Given the description of an element on the screen output the (x, y) to click on. 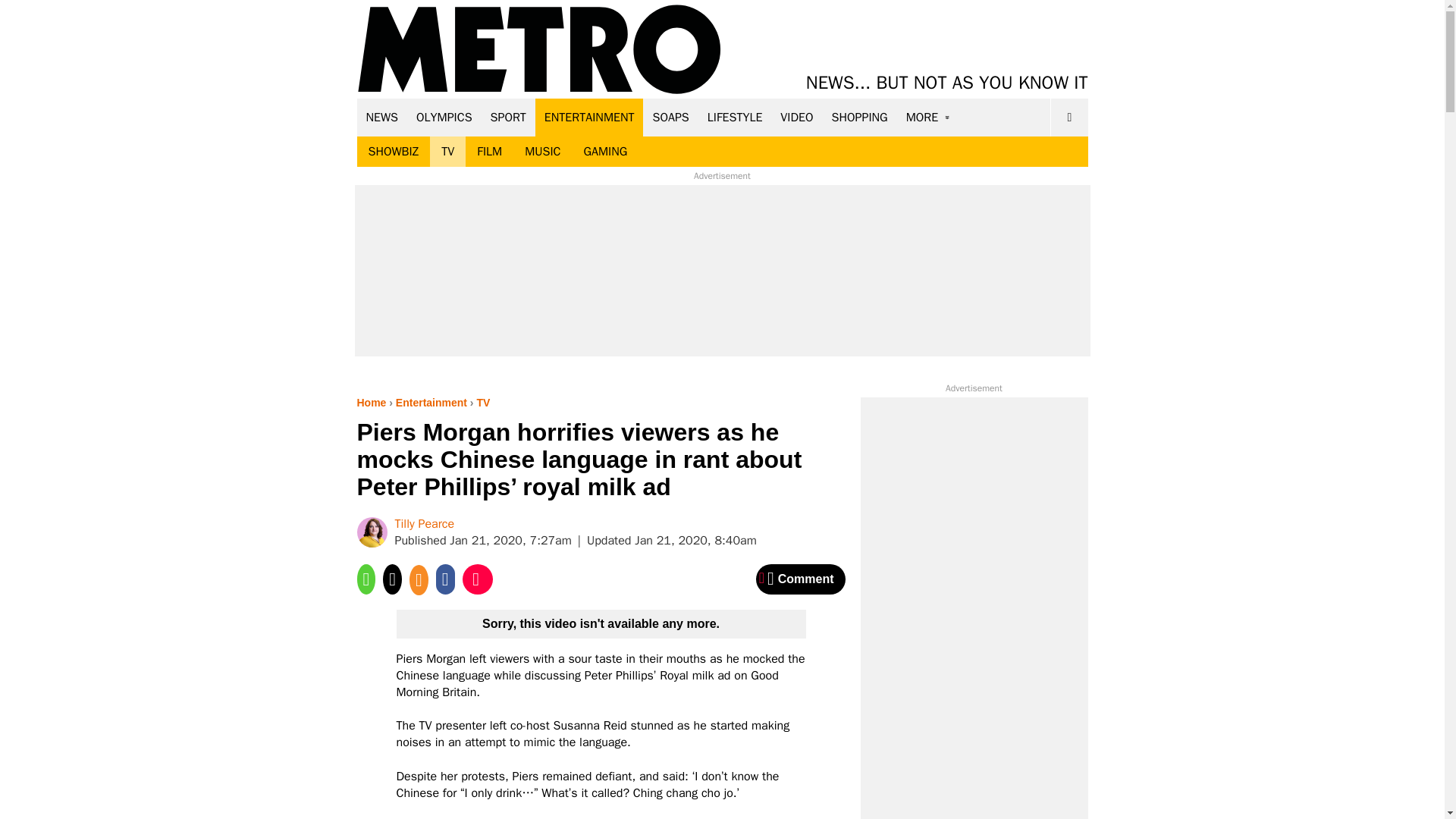
GAMING (605, 151)
TV (447, 151)
SOAPS (670, 117)
OLYMPICS (444, 117)
ENTERTAINMENT (589, 117)
SHOWBIZ (392, 151)
NEWS (381, 117)
MUSIC (542, 151)
Metro (539, 50)
LIFESTYLE (734, 117)
FILM (489, 151)
SPORT (508, 117)
